Given the description of an element on the screen output the (x, y) to click on. 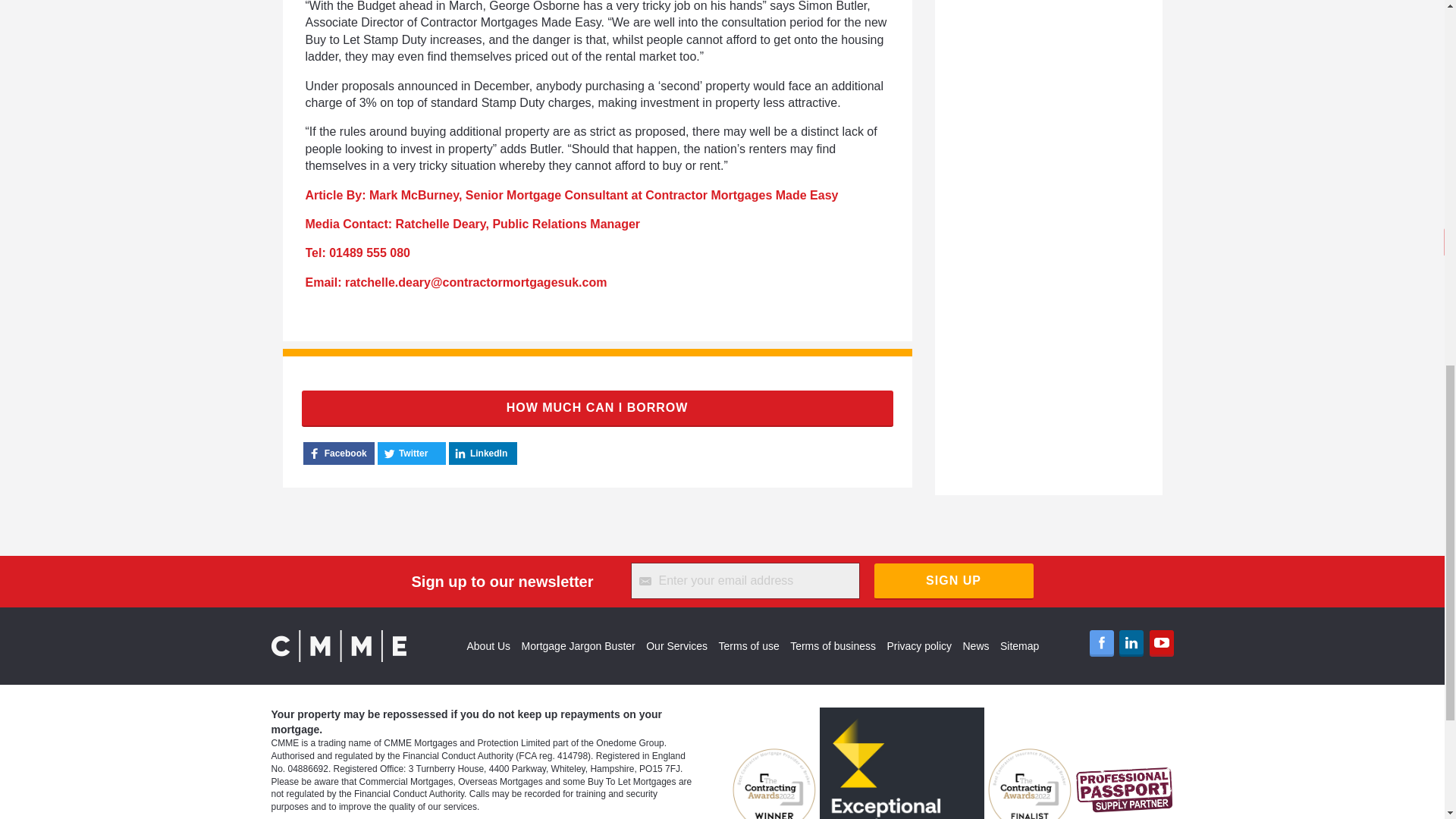
Youtube (1161, 642)
Facebook (1101, 642)
How much can I borrow (597, 408)
LinkedIn (1130, 642)
